Given the description of an element on the screen output the (x, y) to click on. 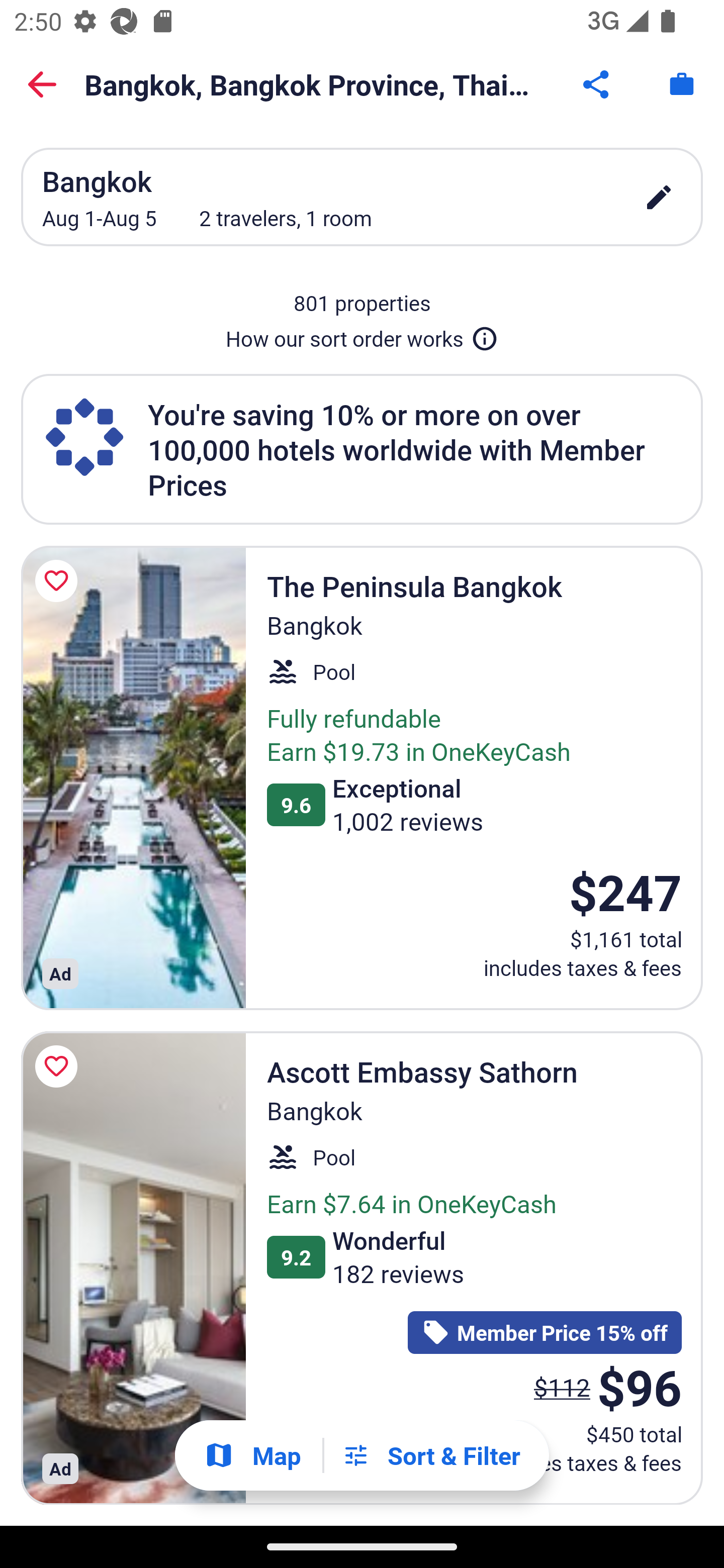
Back (42, 84)
Share Button (597, 84)
Trips. Button (681, 84)
Bangkok Aug 1-Aug 5 2 travelers, 1 room edit (361, 196)
How our sort order works (361, 334)
Save The Peninsula Bangkok to a trip (59, 580)
The Peninsula Bangkok (133, 777)
Save Ascott Embassy Sathorn to a trip (59, 1065)
Ascott Embassy Sathorn (133, 1268)
$112 The price was $112 (561, 1387)
Filters Sort & Filter Filters Button (430, 1455)
Show map Map Show map Button (252, 1455)
